Given the description of an element on the screen output the (x, y) to click on. 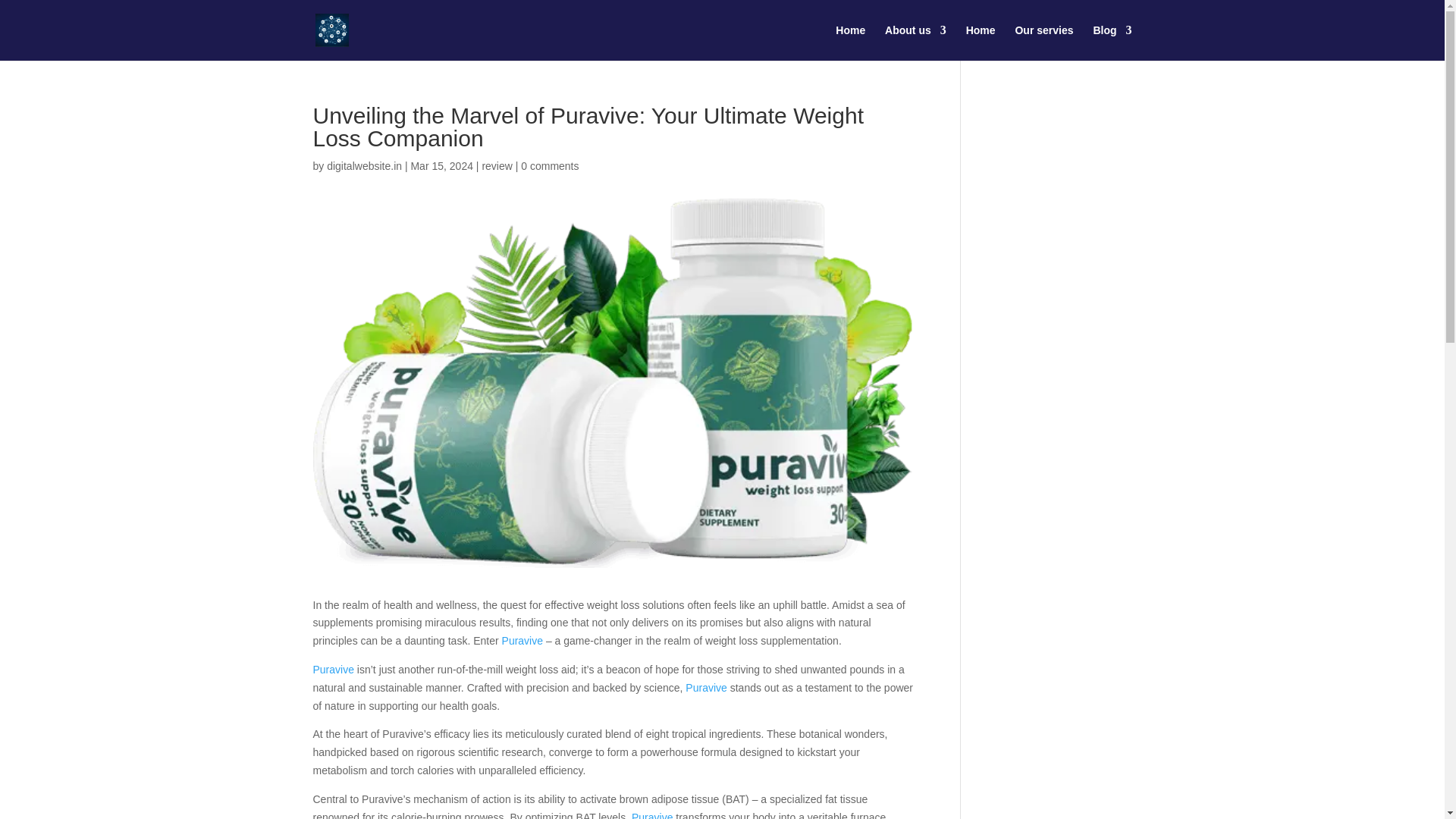
Posts by digitalwebsite.in (363, 165)
Our servies (1043, 42)
digitalwebsite.in (363, 165)
0 comments (549, 165)
About us (915, 42)
Puravive (333, 669)
Puravive (705, 687)
Blog (1112, 42)
Puravive (651, 815)
Puravive (522, 640)
review (496, 165)
